Given the description of an element on the screen output the (x, y) to click on. 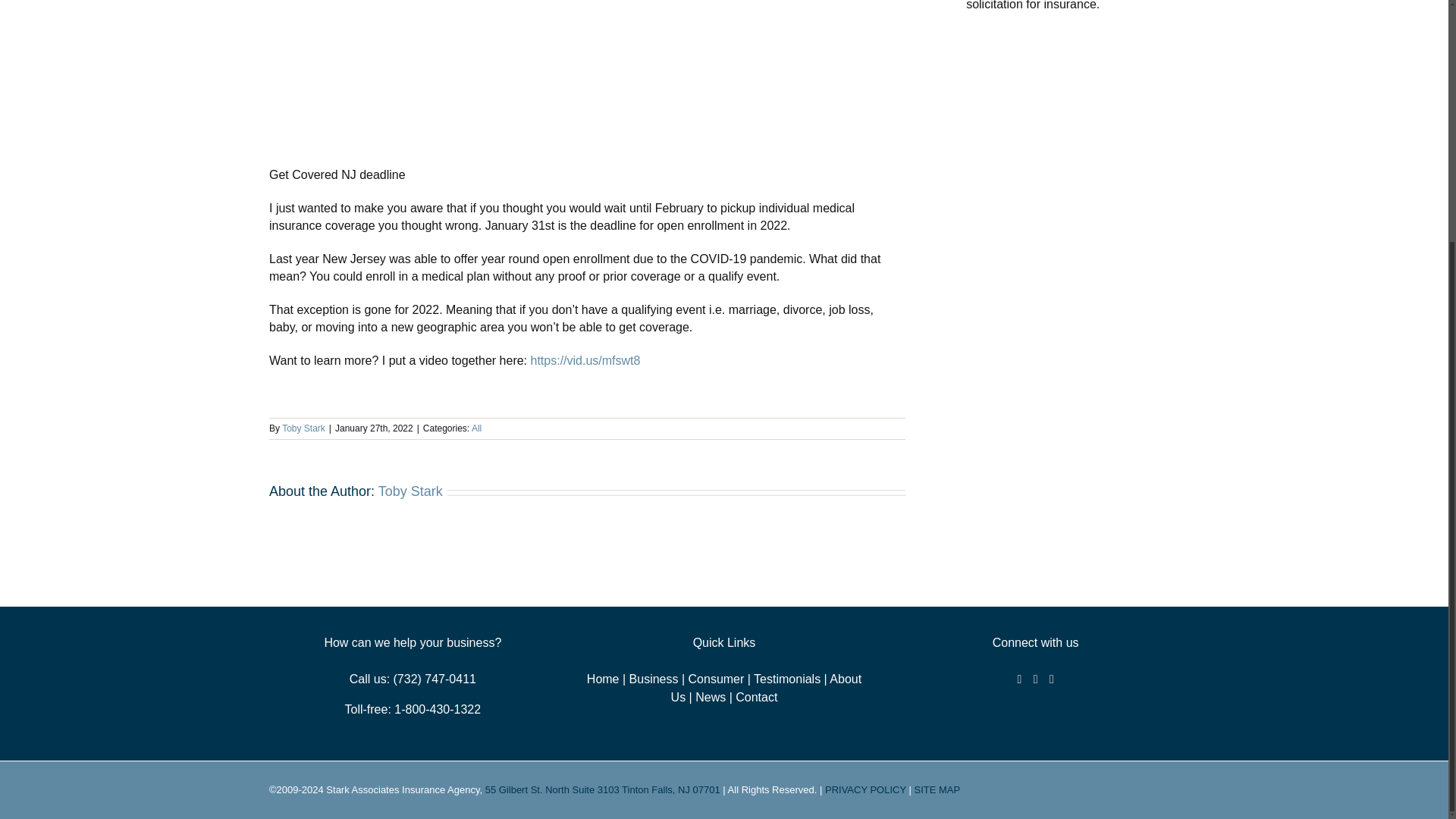
Posts by Toby Stark (410, 491)
Posts by Toby Stark (303, 428)
About (766, 687)
Testimonials (787, 678)
Consumer (716, 678)
Contact Us (756, 697)
All (476, 428)
Home (603, 678)
Business (653, 678)
Toby Stark (303, 428)
